Given the description of an element on the screen output the (x, y) to click on. 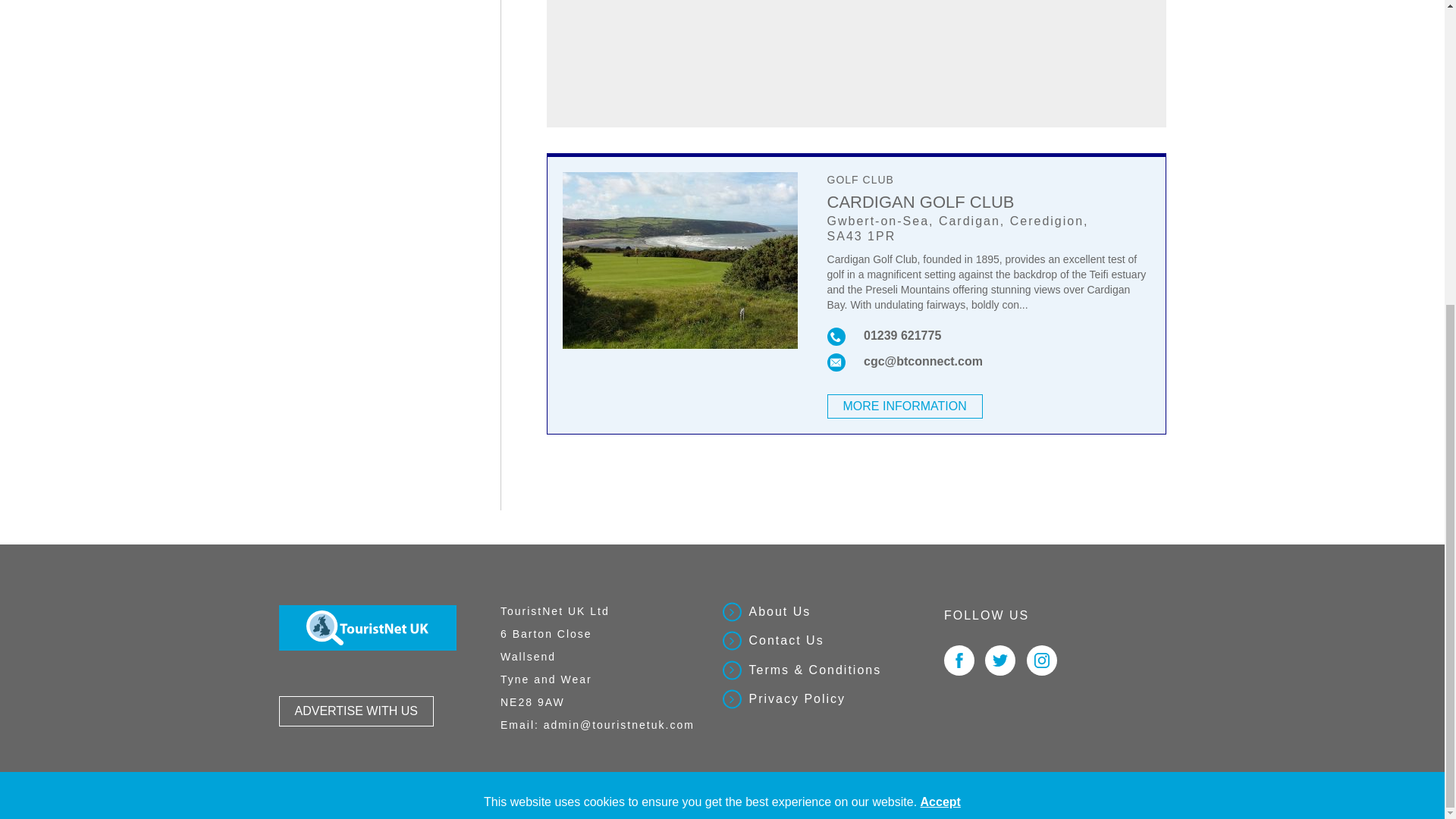
Accept (940, 323)
